Given the description of an element on the screen output the (x, y) to click on. 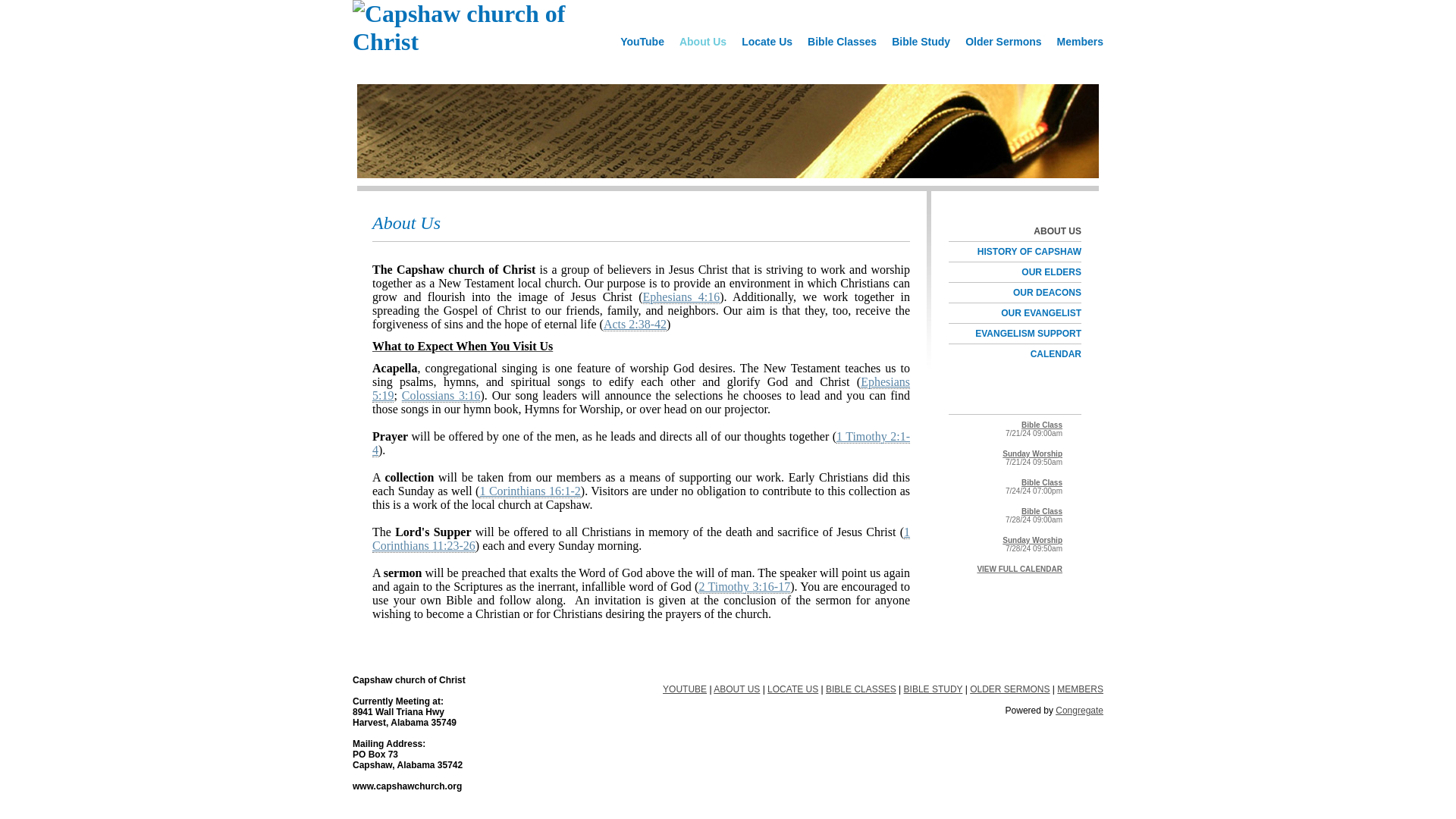
Members (1076, 41)
YouTube (641, 41)
Locate Us (766, 41)
Bible Classes (841, 41)
Bible Study (920, 41)
Older Sermons (1003, 41)
About Us (702, 41)
